Given the description of an element on the screen output the (x, y) to click on. 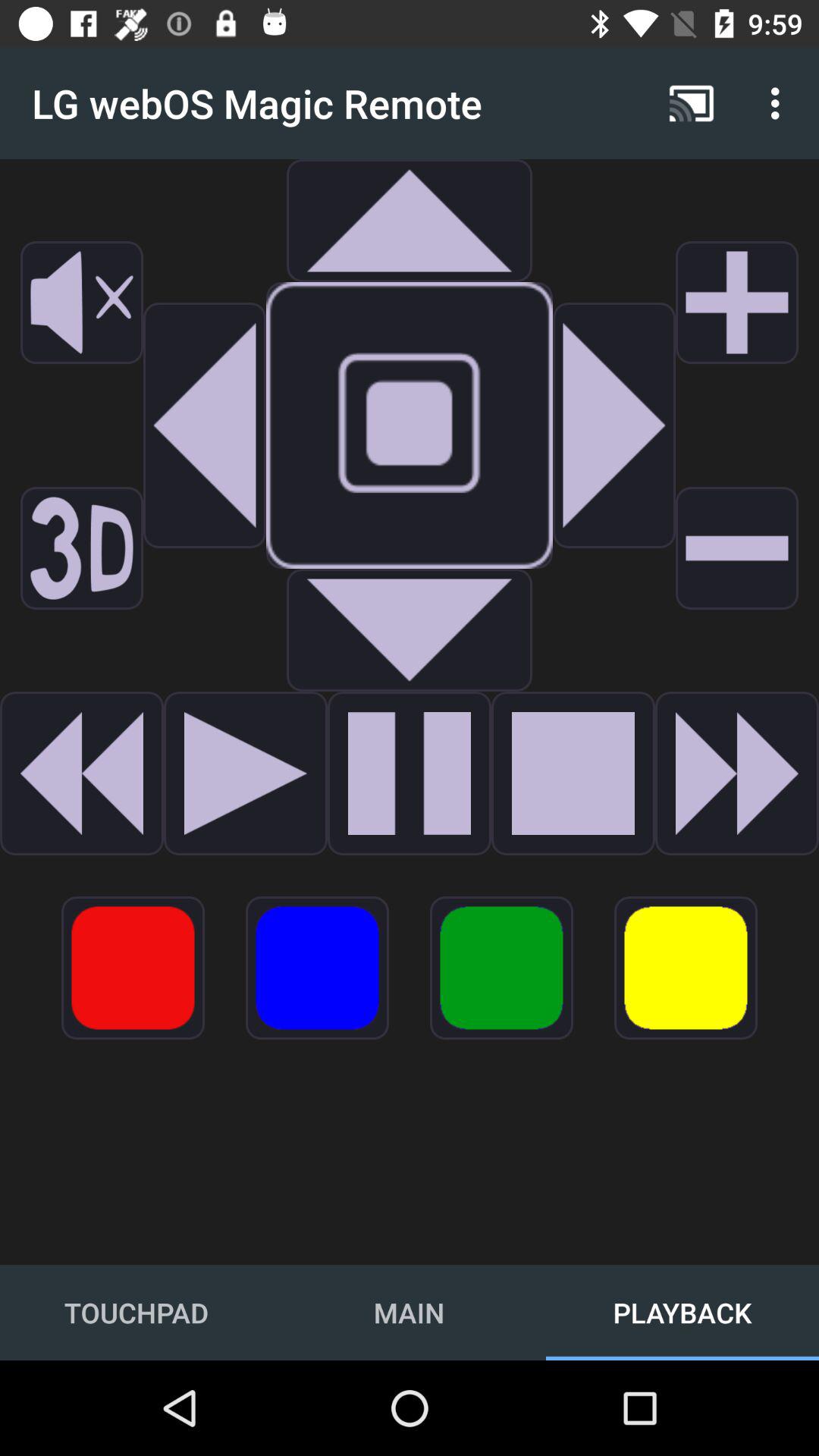
toggle 3d option (81, 547)
